Given the description of an element on the screen output the (x, y) to click on. 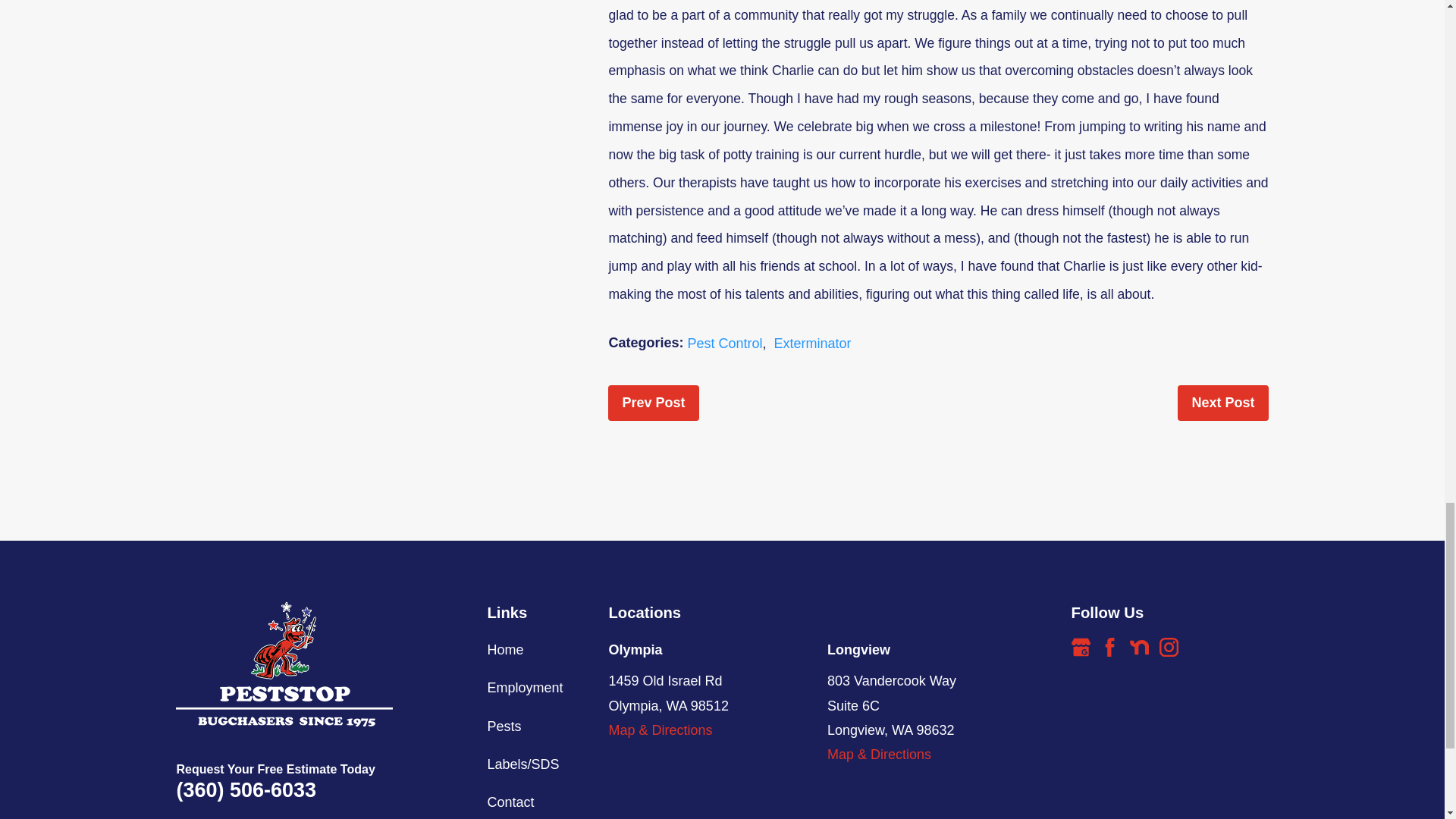
Facebook (1109, 647)
Home (284, 663)
Nextdoor (1138, 647)
Google Business Profile (1080, 647)
